Given the description of an element on the screen output the (x, y) to click on. 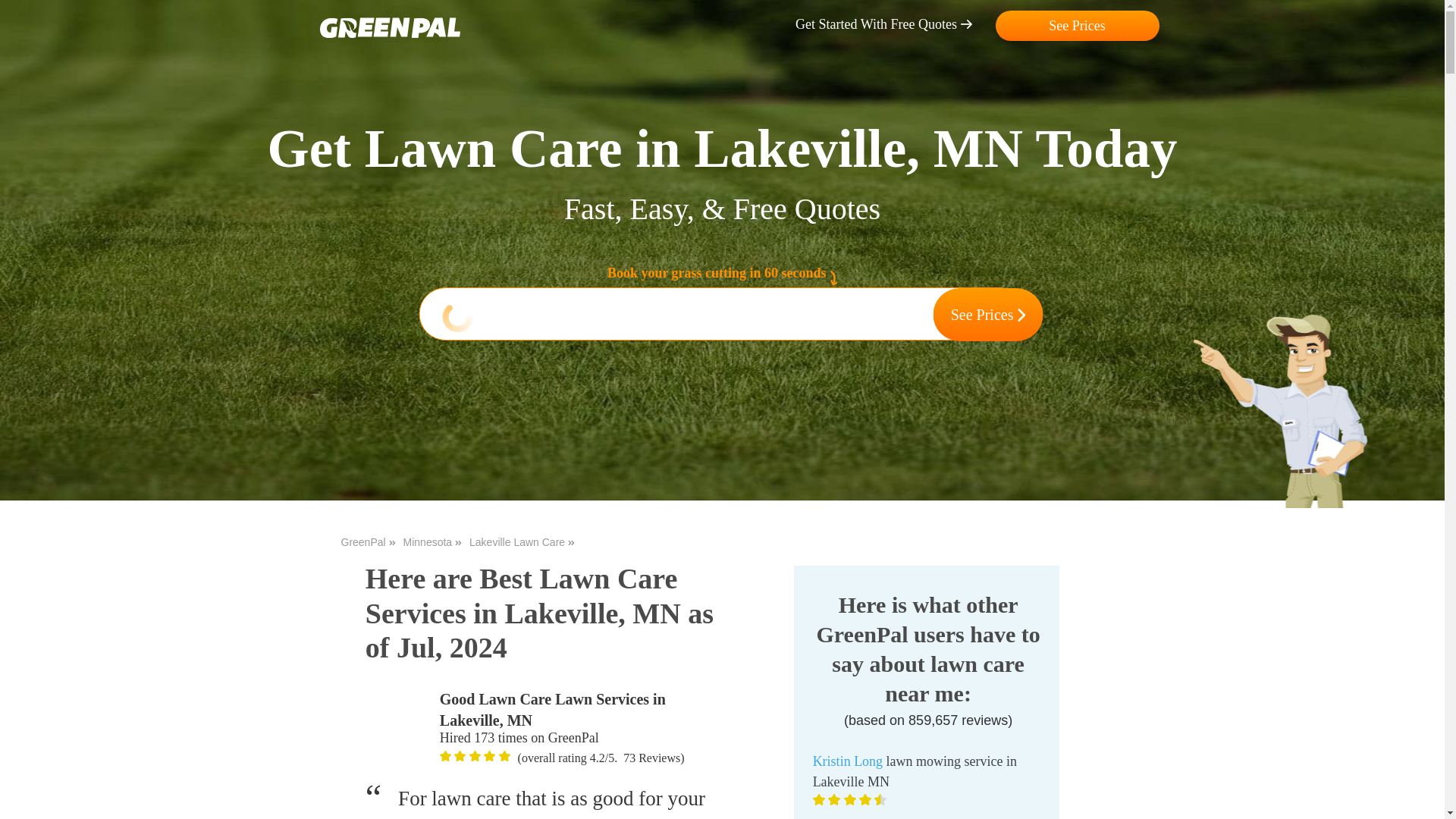
local-lawn-maintenance-contractors-in-Lakeville-MN (398, 721)
Minnesota (432, 542)
affordable-landscaping-maintenance-services-in-Lakeville-MN (390, 27)
See Prices (988, 314)
See Prices (1076, 25)
grass-cutting-businesses-in-Lakeville-MN (489, 756)
the-yard-cutting-businesses-in-Lakeville-MN (1288, 466)
affordable-lawn-services-in-Lakeville-MN (474, 756)
grass-cutting-businesses-in-Lakeville-MN (459, 756)
Get Started With Free Quotes (891, 23)
Lakeville Lawn Care (521, 542)
affordable-grass-cutting-businesses-in-Lakeville-MN (505, 756)
local-lawn-cutting-services-in-Lakeville-MN (445, 756)
GreenPal (368, 542)
